Given the description of an element on the screen output the (x, y) to click on. 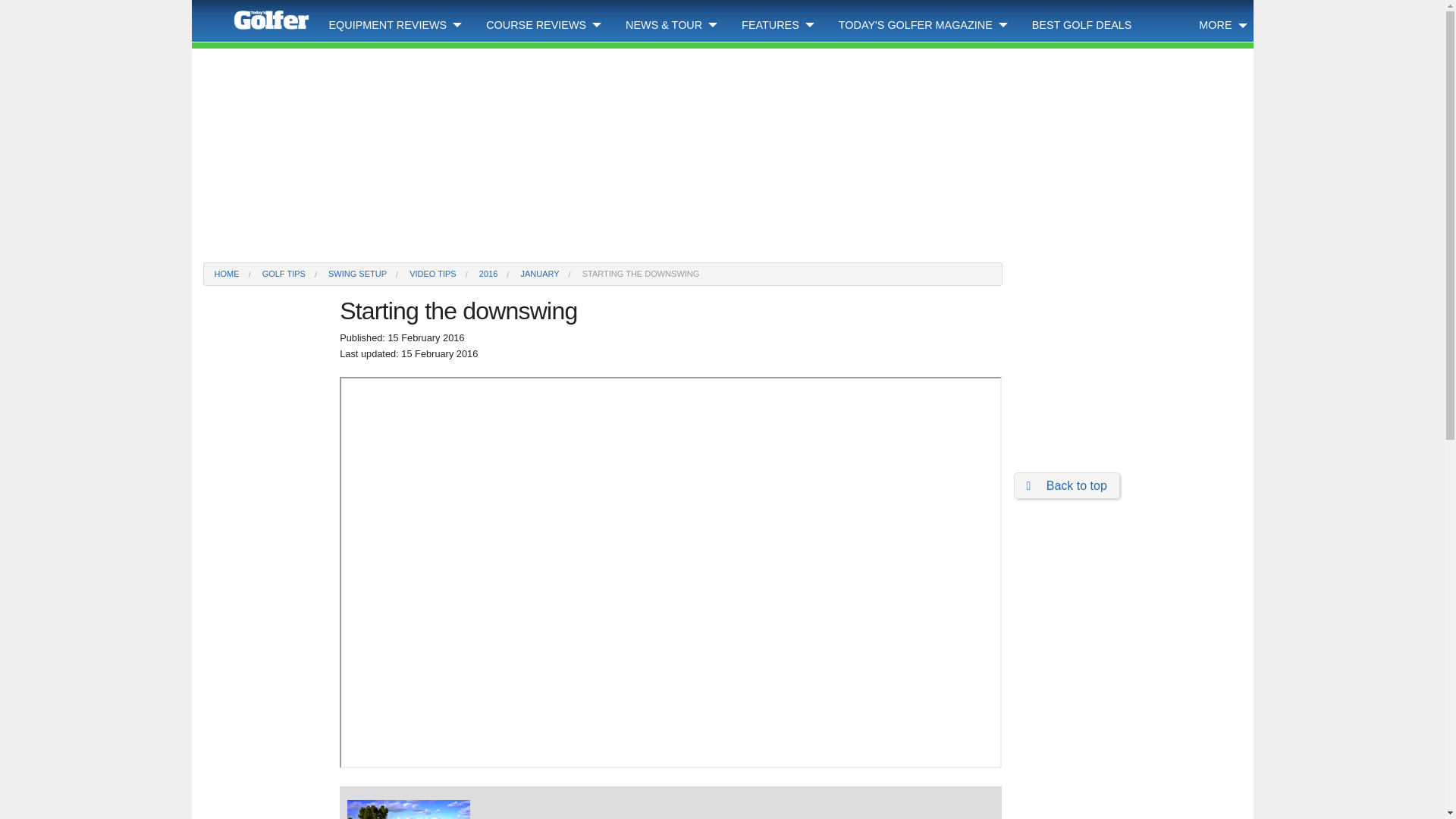
Home (252, 20)
COURSE REVIEWS (543, 20)
TODAY'S GOLFER MAGAZINE (923, 20)
FEATURES (778, 20)
EQUIPMENT REVIEWS (395, 20)
